Given the description of an element on the screen output the (x, y) to click on. 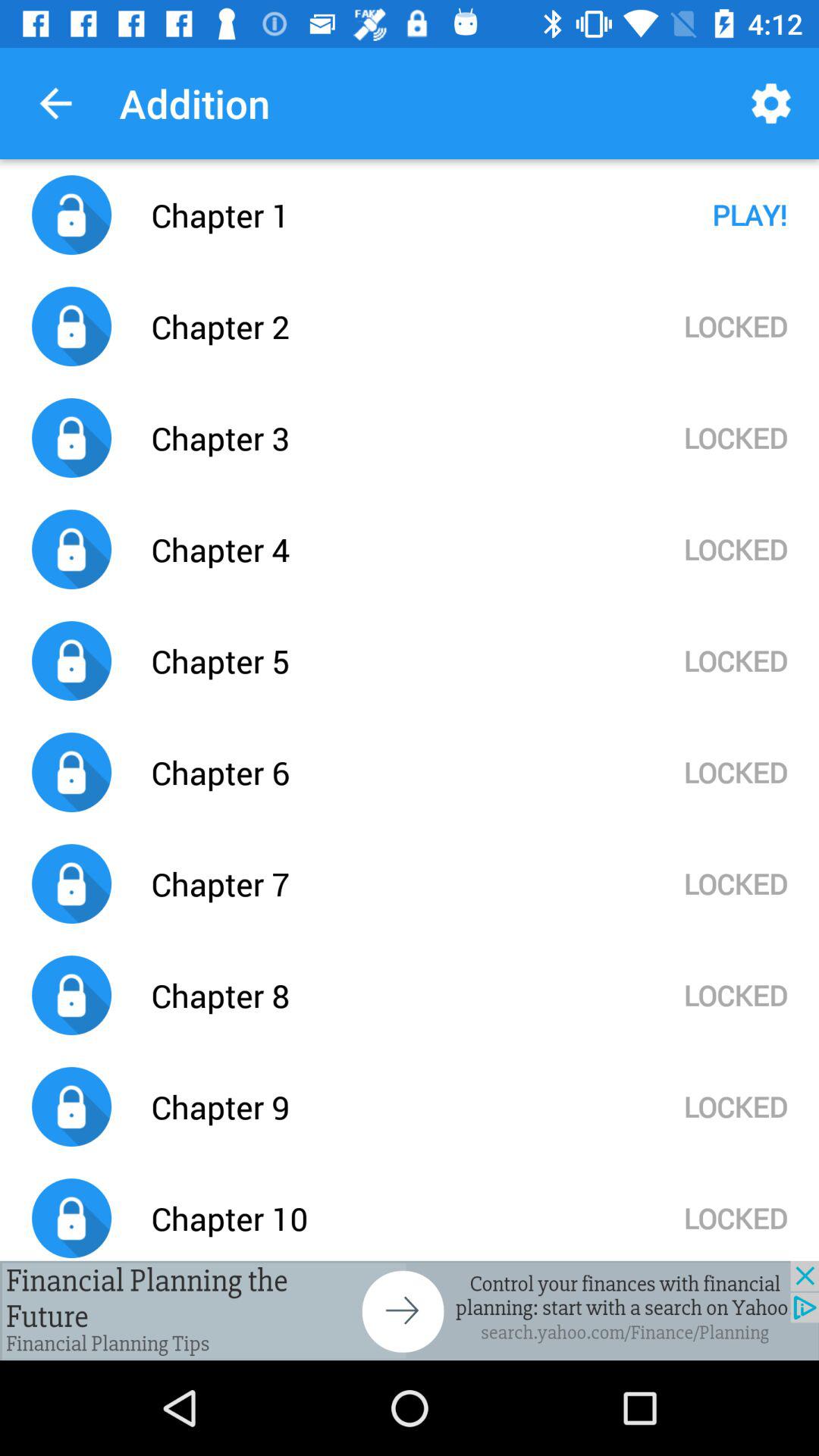
toggle advertisement (409, 1310)
